Given the description of an element on the screen output the (x, y) to click on. 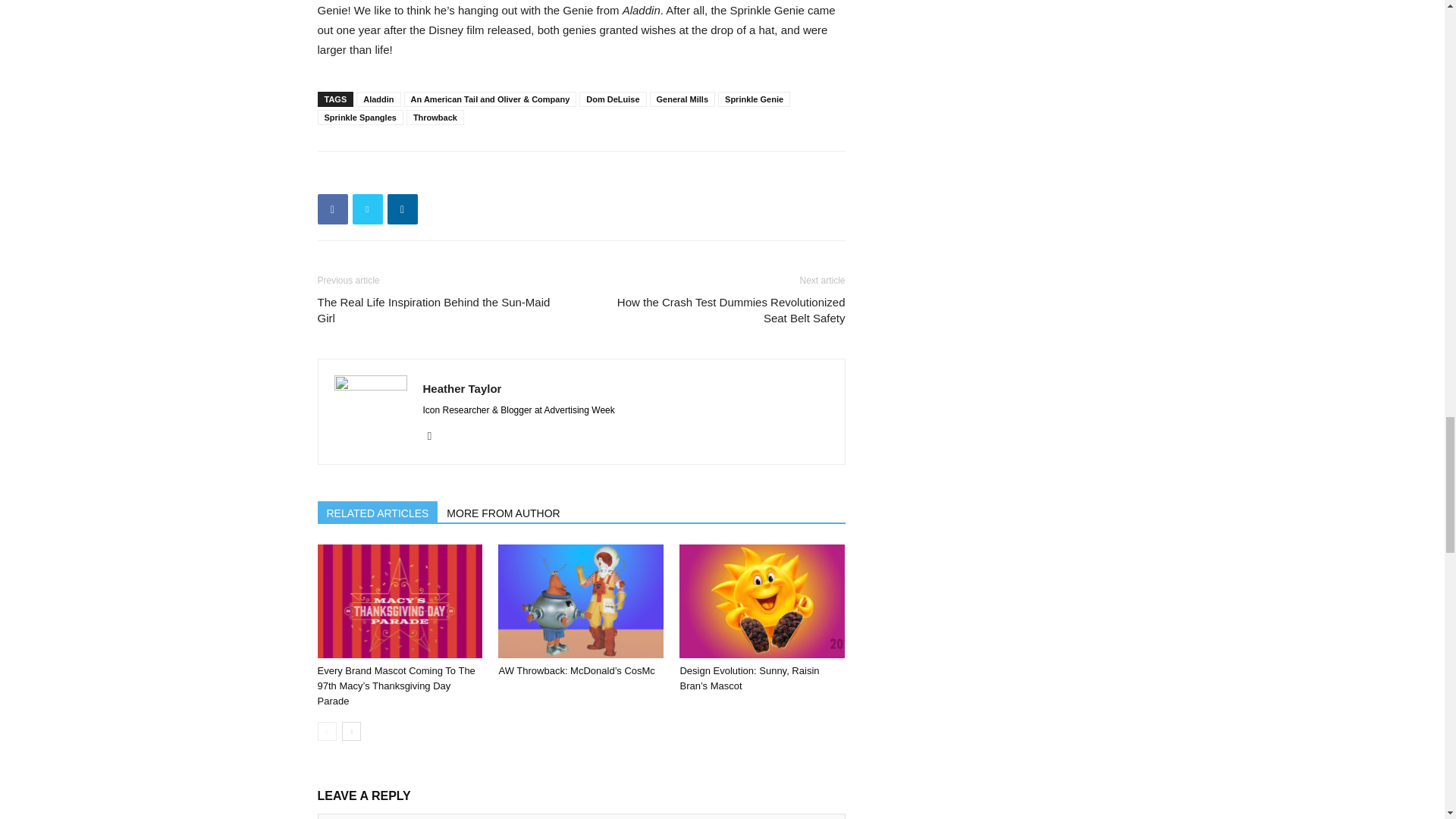
Twitter (435, 435)
